Given the description of an element on the screen output the (x, y) to click on. 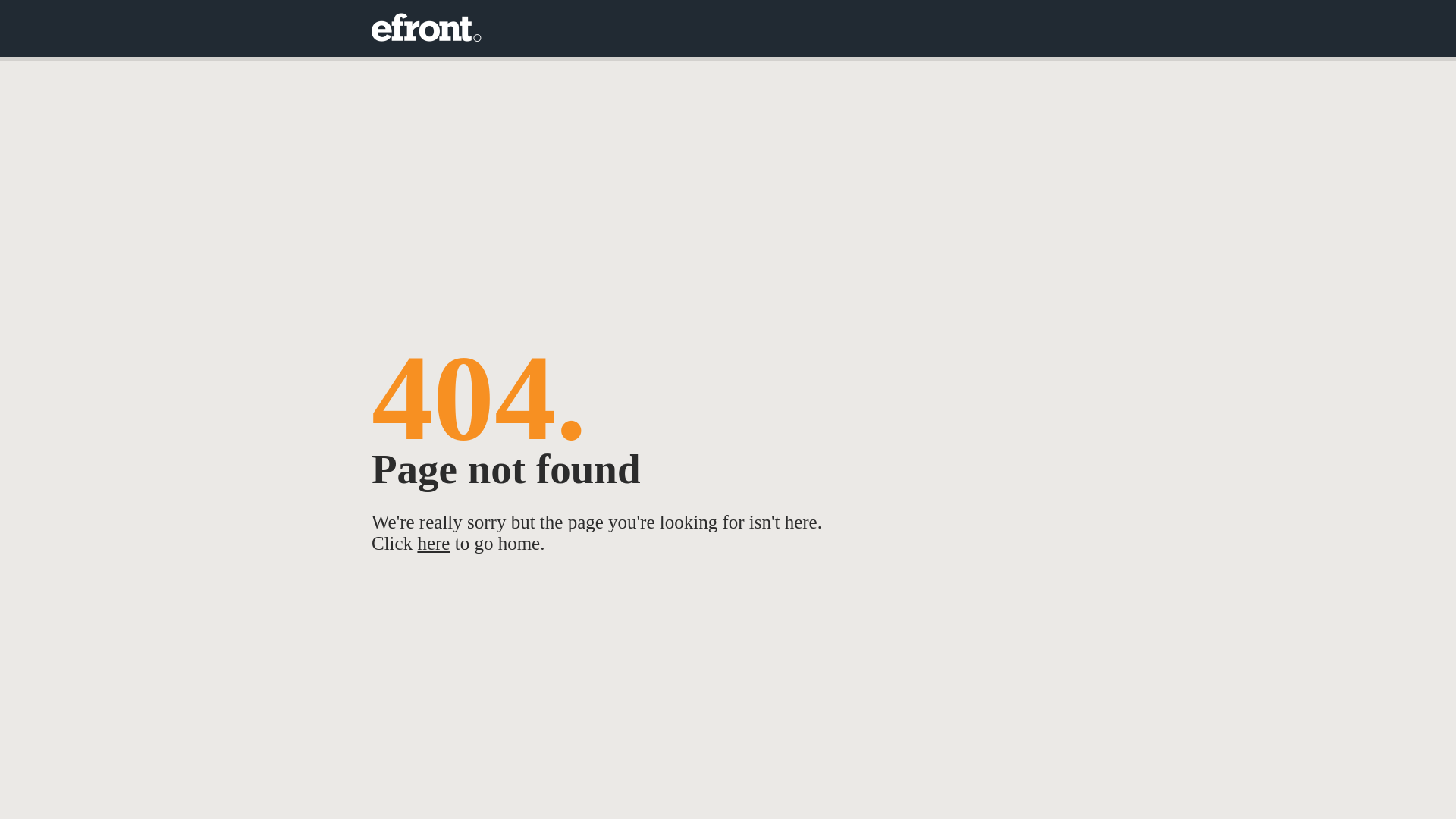
Efront Element type: text (426, 28)
here Element type: text (433, 543)
